Given the description of an element on the screen output the (x, y) to click on. 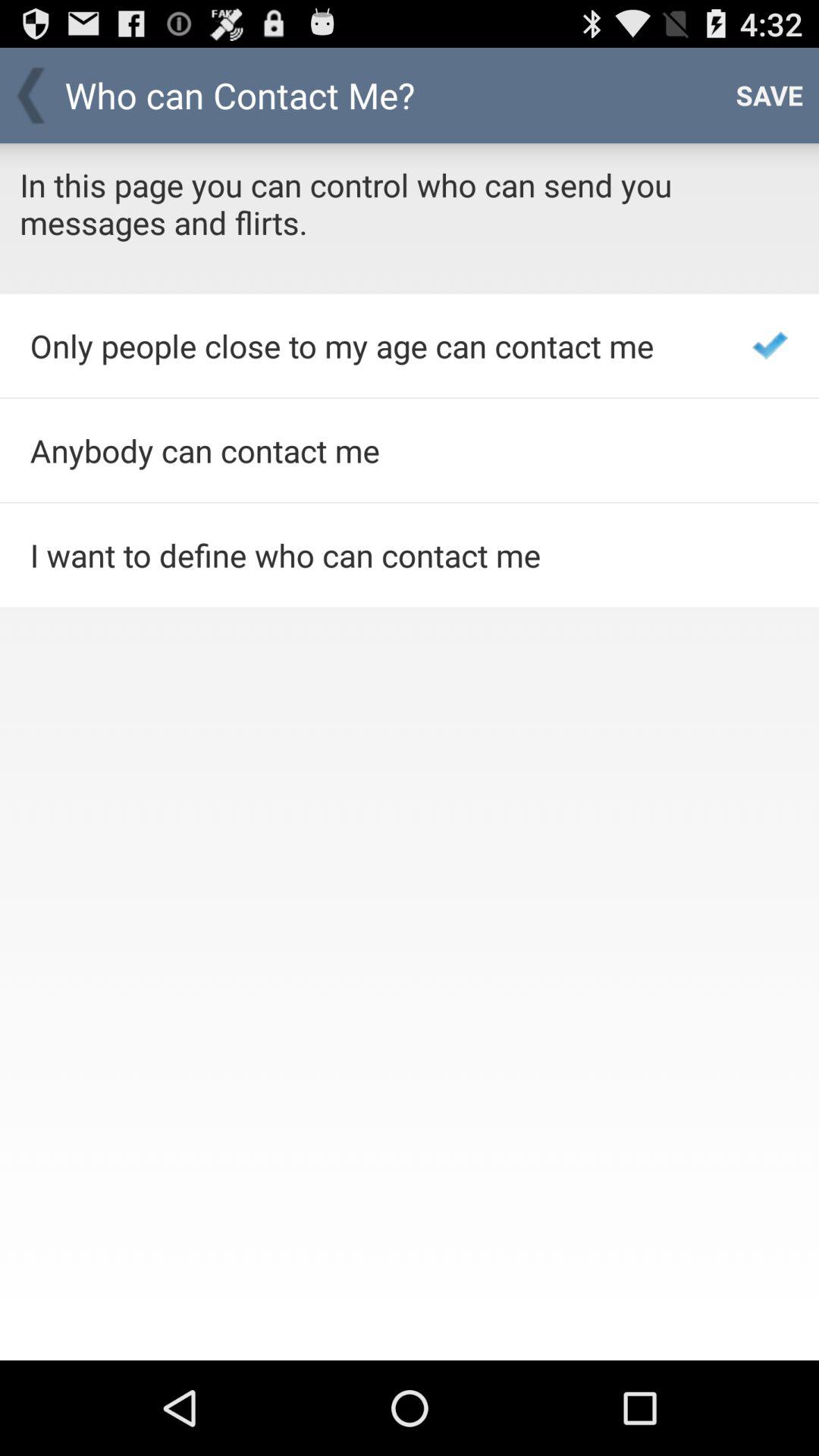
select i want to at the center (371, 554)
